Given the description of an element on the screen output the (x, y) to click on. 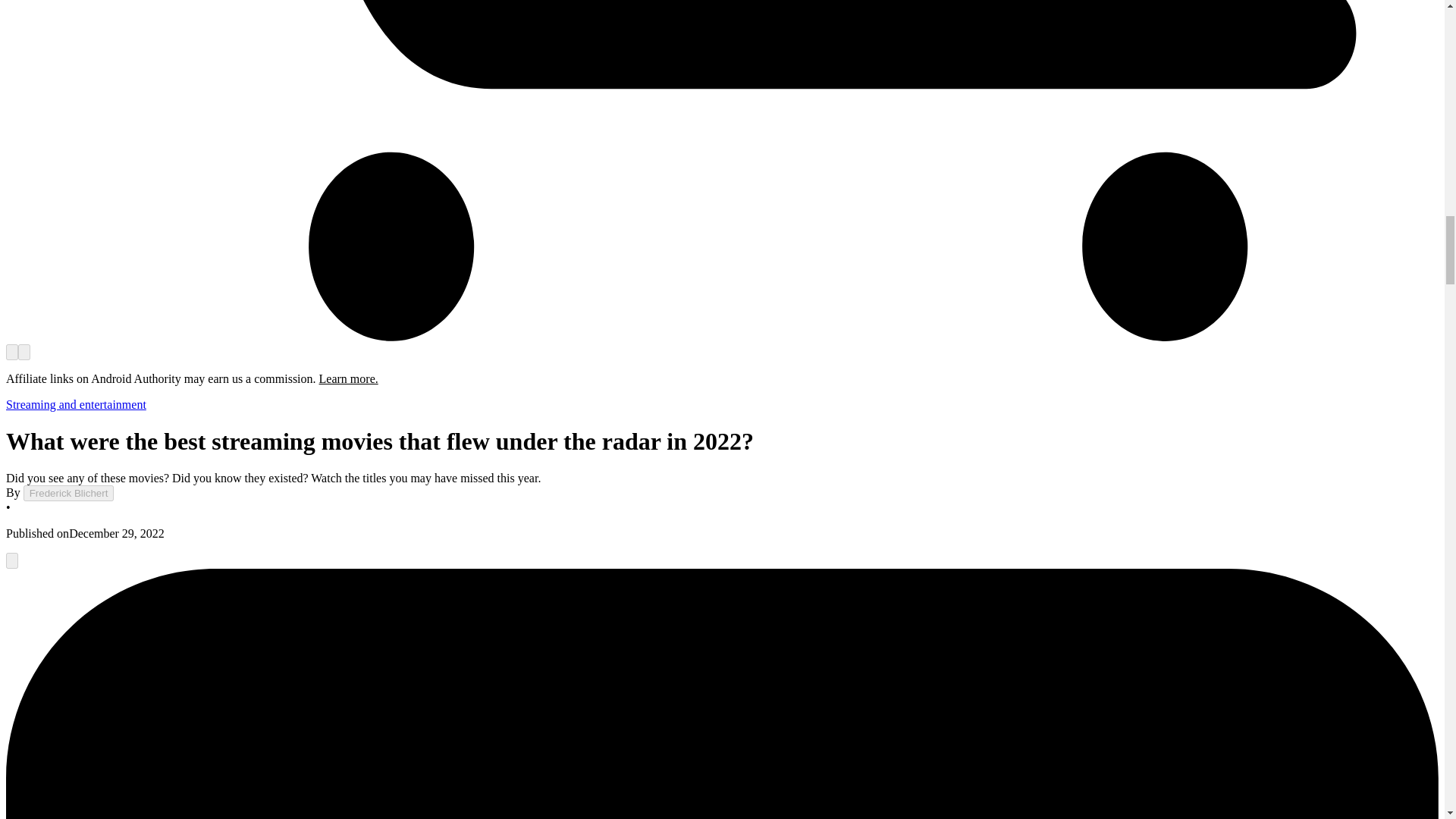
Streaming and entertainment (76, 404)
Frederick Blichert (69, 493)
Learn more. (348, 378)
